Given the description of an element on the screen output the (x, y) to click on. 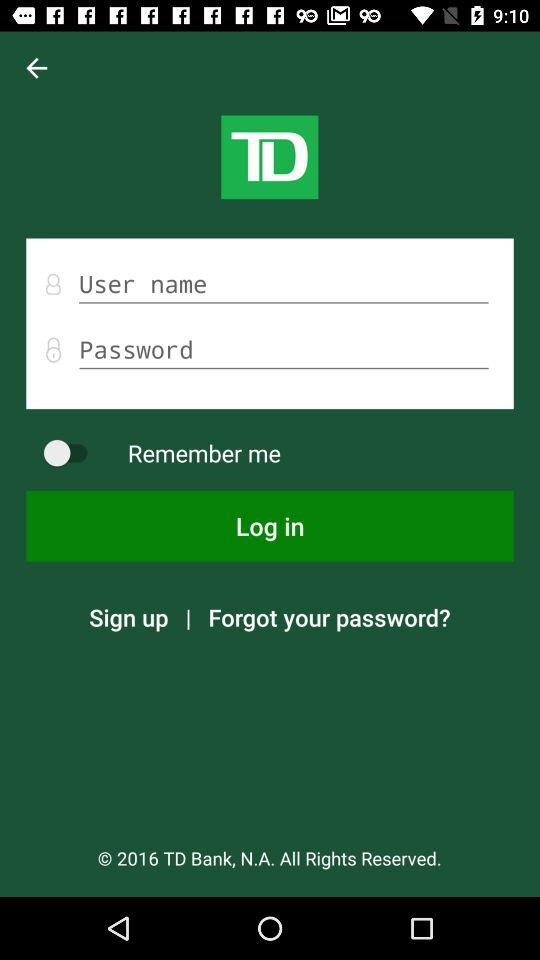
choose the icon above 2016 td bank app (128, 617)
